Given the description of an element on the screen output the (x, y) to click on. 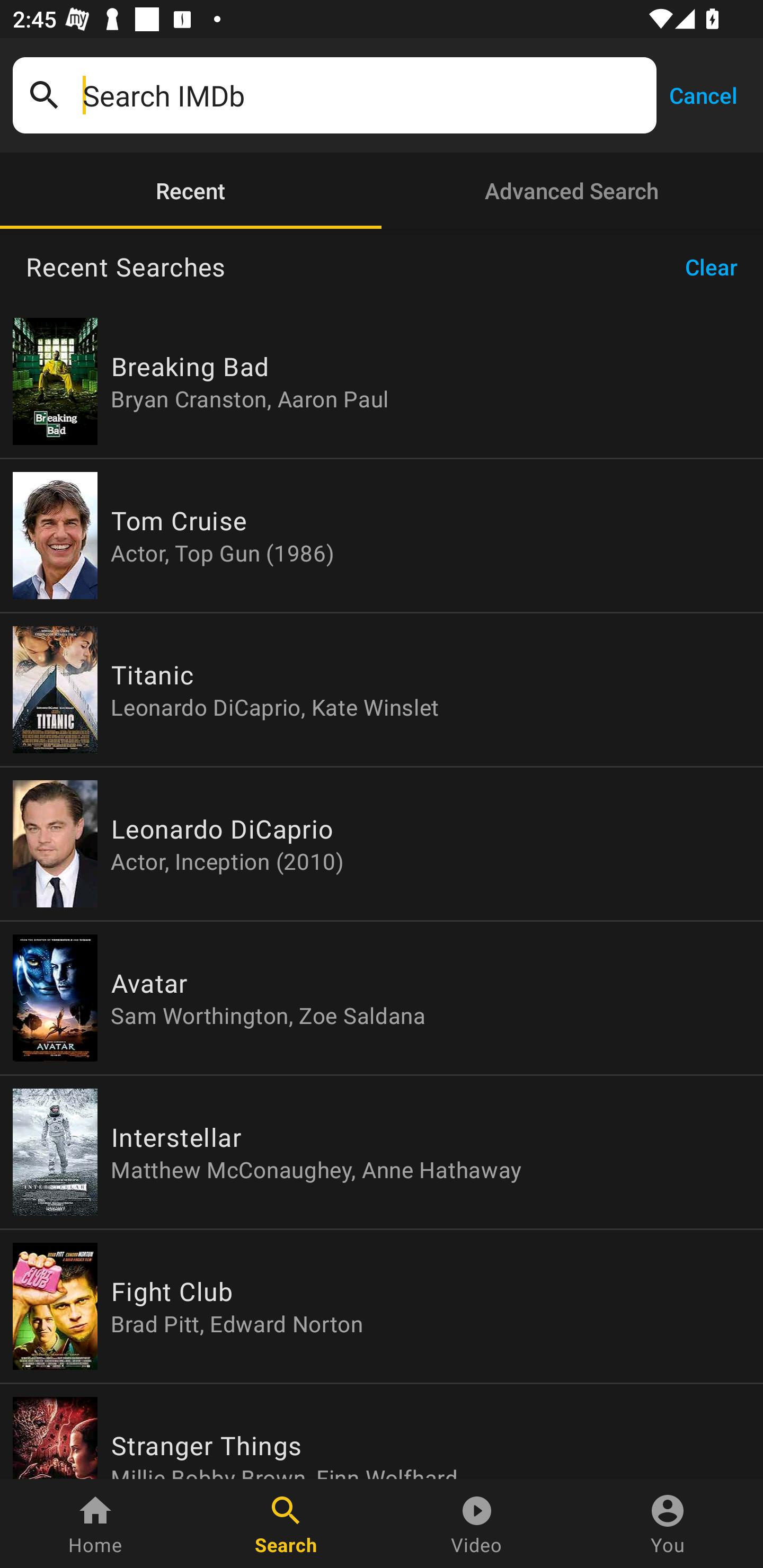
Cancel (703, 94)
Search IMDb (363, 95)
Advanced Search (572, 190)
Clear (717, 266)
Breaking Bad Bryan Cranston, Aaron Paul (381, 381)
Tom Cruise Actor, Top Gun (1986) (381, 535)
Titanic Leonardo DiCaprio, Kate Winslet (381, 689)
Leonardo DiCaprio Actor, Inception (2010) (381, 844)
Avatar Sam Worthington, Zoe Saldana (381, 997)
Interstellar Matthew McConaughey, Anne Hathaway (381, 1151)
Fight Club Brad Pitt, Edward Norton (381, 1305)
Stranger Things Millie Bobby Brown, Finn Wolfhard (381, 1431)
Home (95, 1523)
Video (476, 1523)
You (667, 1523)
